Given the description of an element on the screen output the (x, y) to click on. 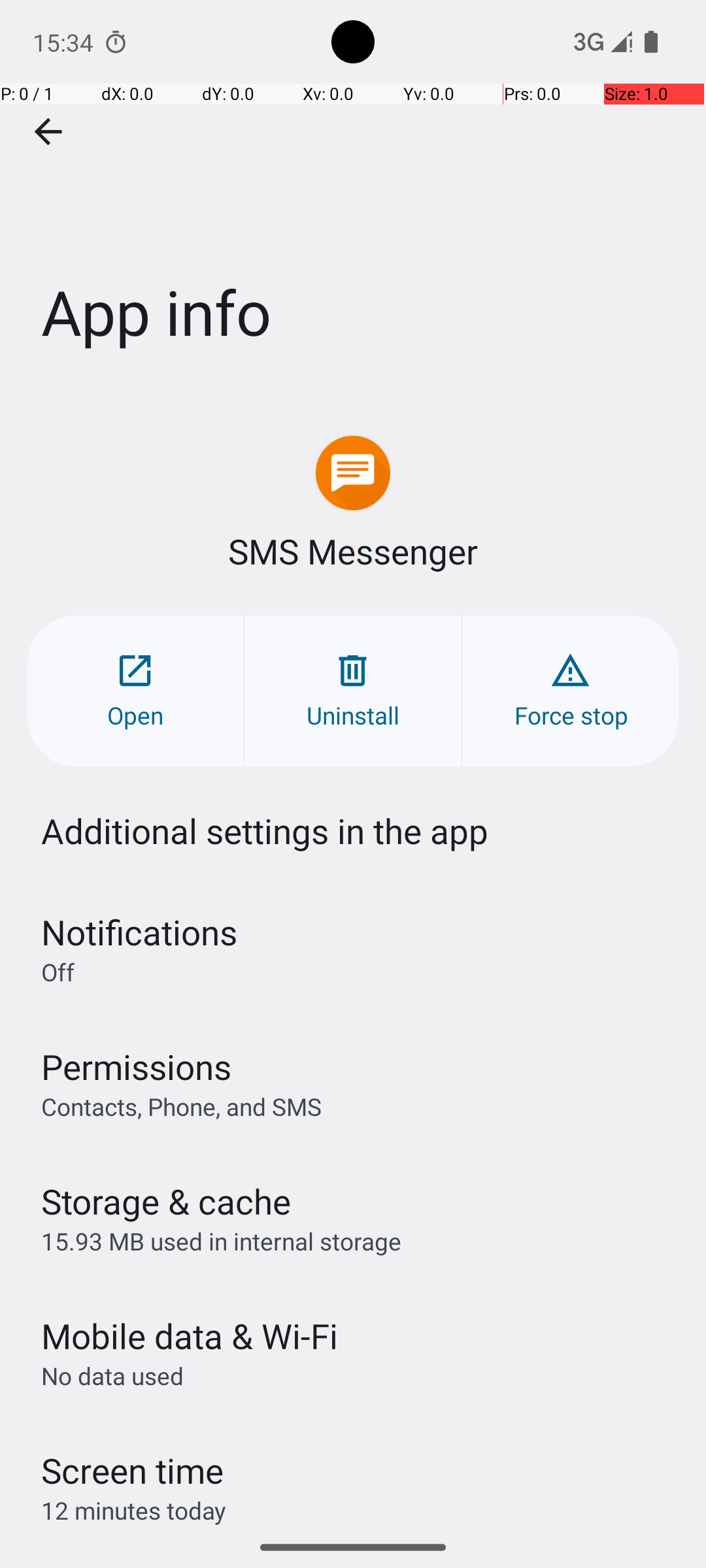
Contacts, Phone, and SMS Element type: android.widget.TextView (181, 1106)
15.93 MB used in internal storage Element type: android.widget.TextView (221, 1240)
12 minutes today Element type: android.widget.TextView (133, 1509)
